Given the description of an element on the screen output the (x, y) to click on. 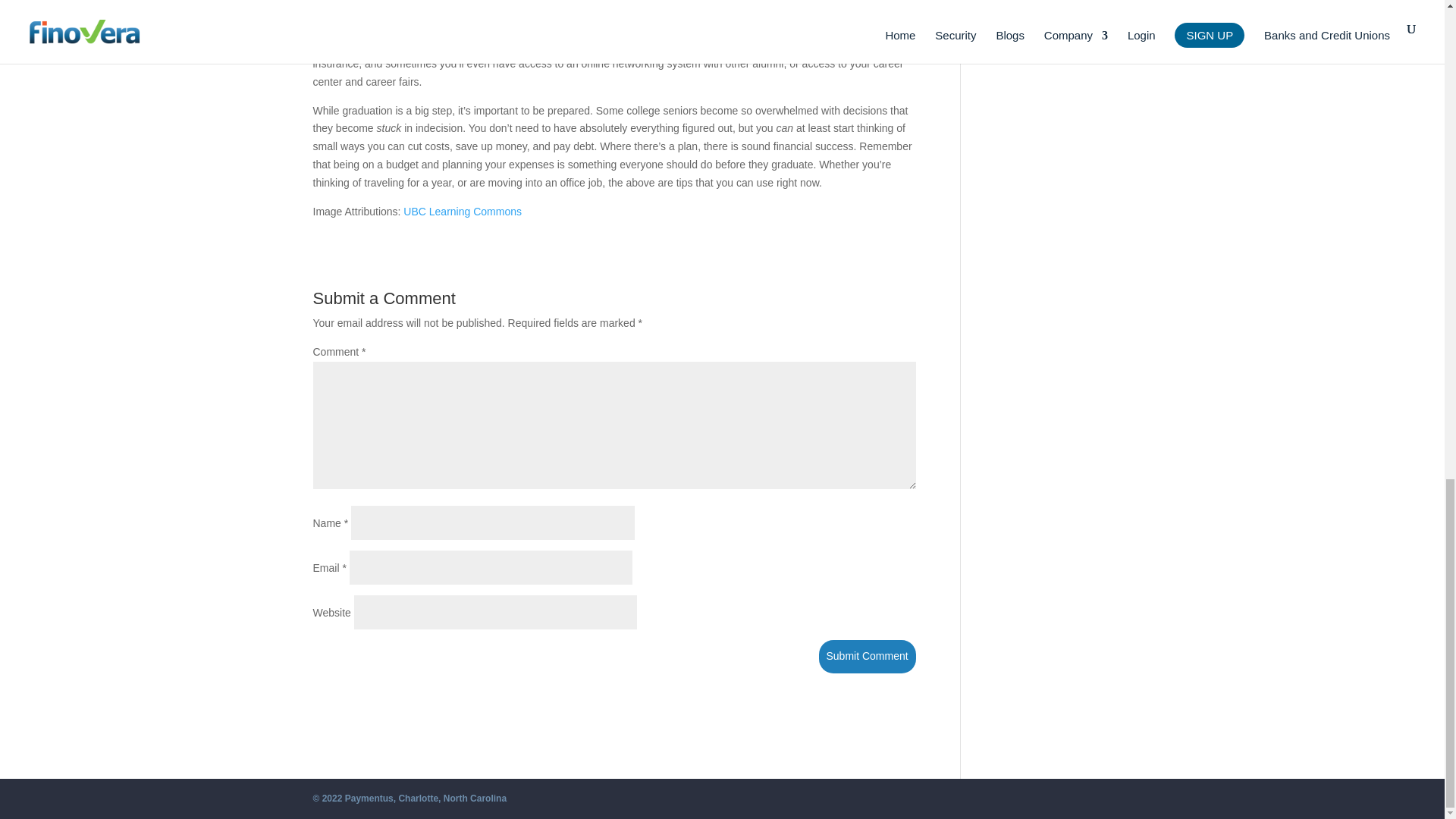
Submit Comment (866, 656)
UBC Learning Commons (462, 211)
Submit Comment (866, 656)
